Given the description of an element on the screen output the (x, y) to click on. 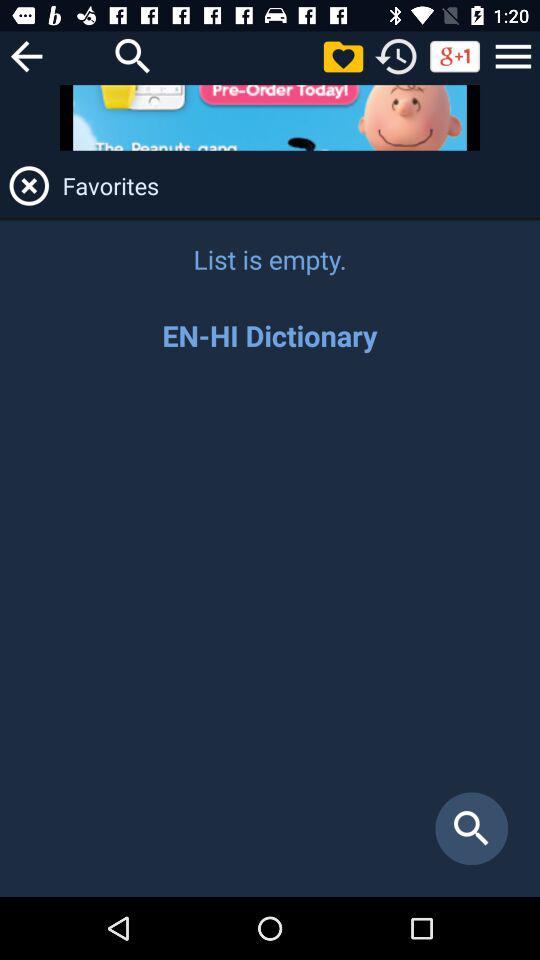
opens menu (513, 56)
